Given the description of an element on the screen output the (x, y) to click on. 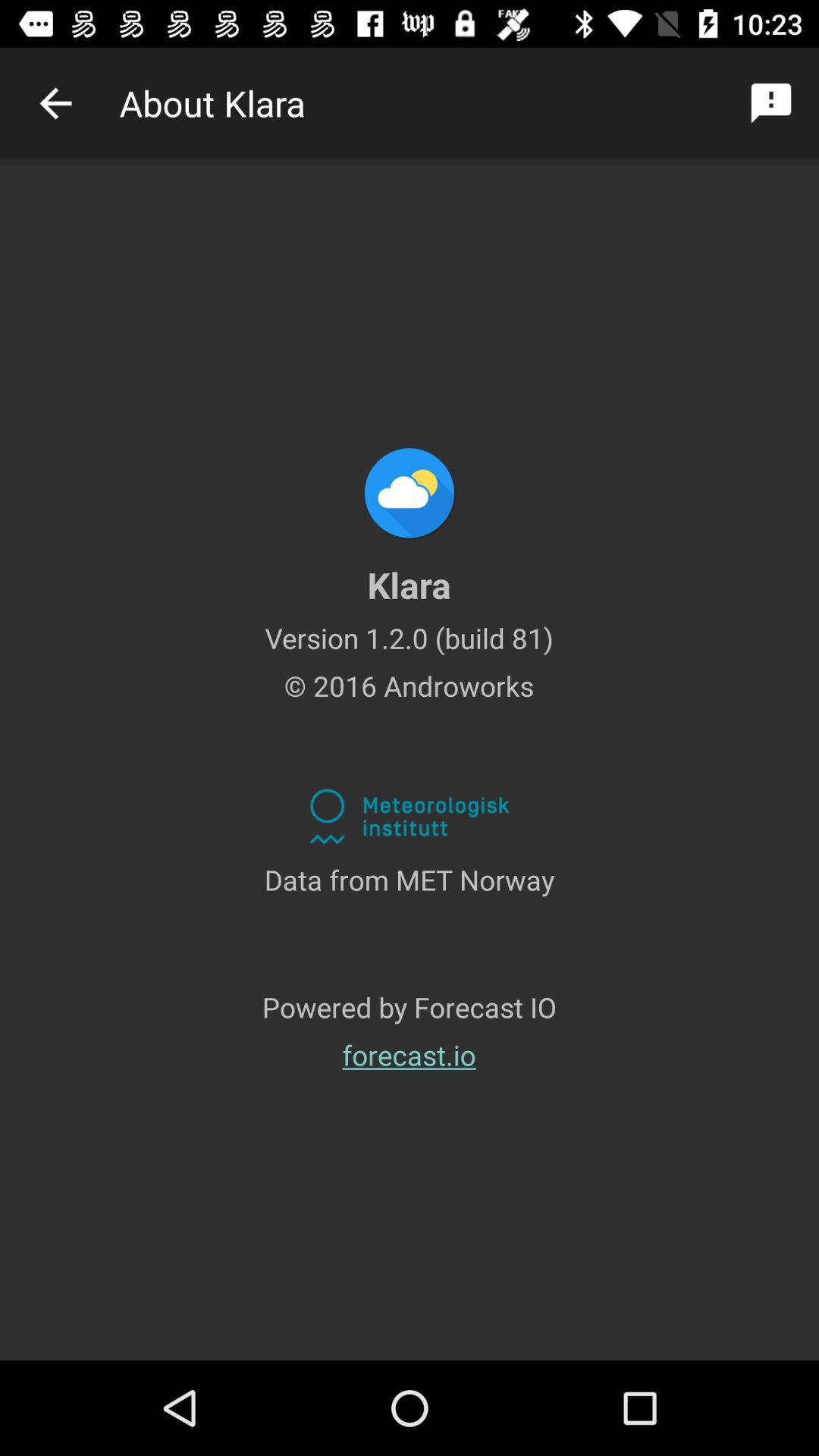
click item next to the about klara item (55, 103)
